Given the description of an element on the screen output the (x, y) to click on. 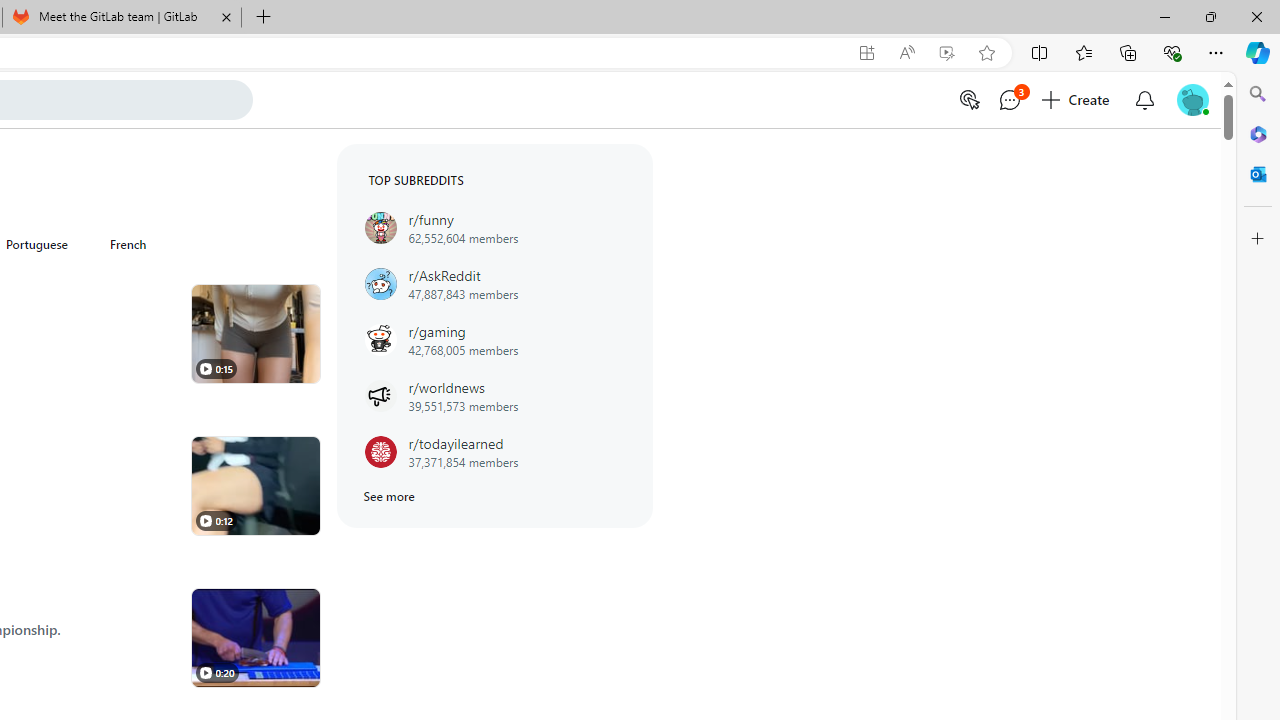
r/funny icon (379, 227)
r/gaming icon (379, 339)
r/lululemon - new haul(:  (255, 334)
French (127, 243)
User Avatar (1192, 98)
r/worldnews 39,551,573 members (494, 395)
